Given the description of an element on the screen output the (x, y) to click on. 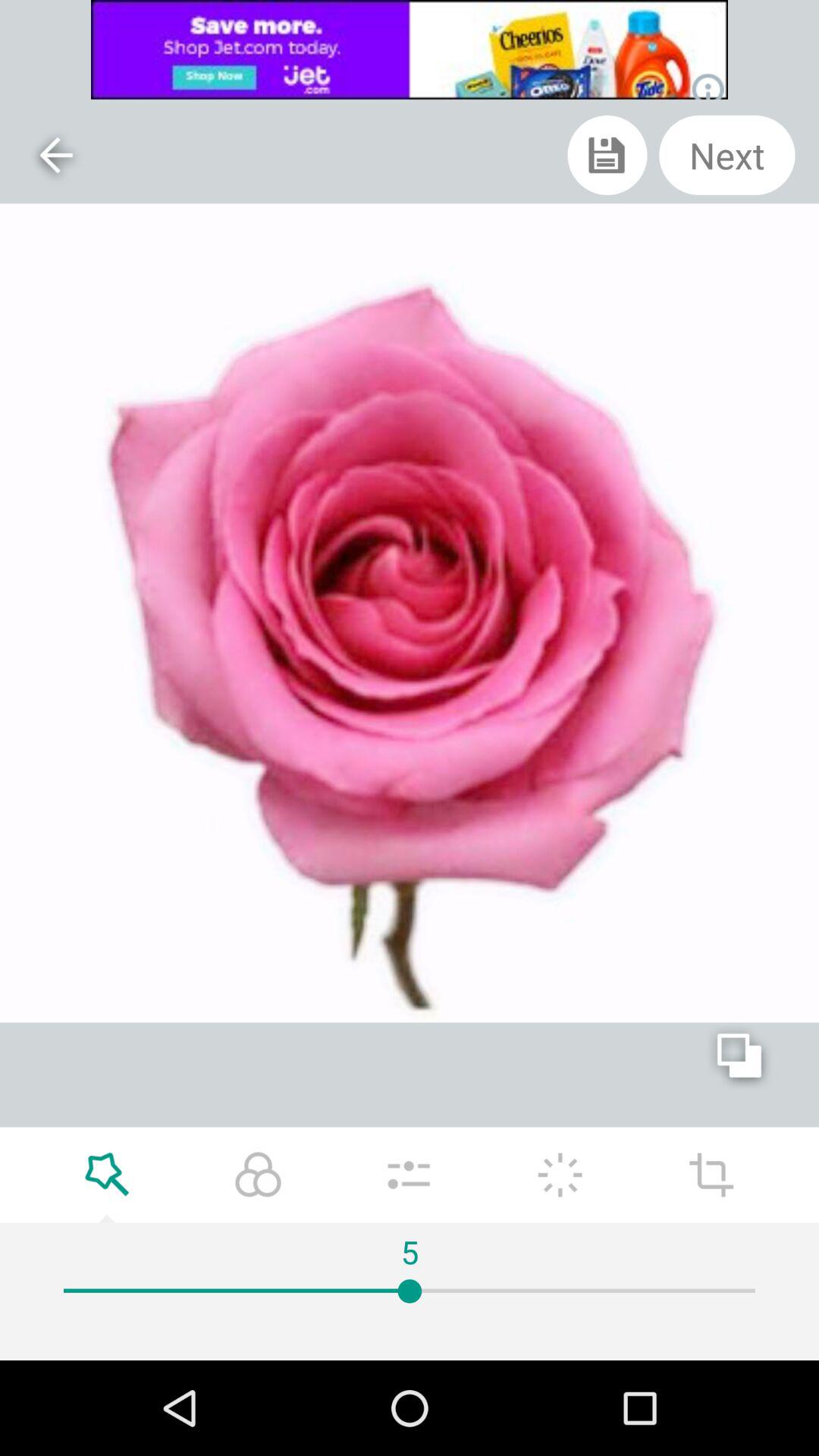
save (607, 155)
